Given the description of an element on the screen output the (x, y) to click on. 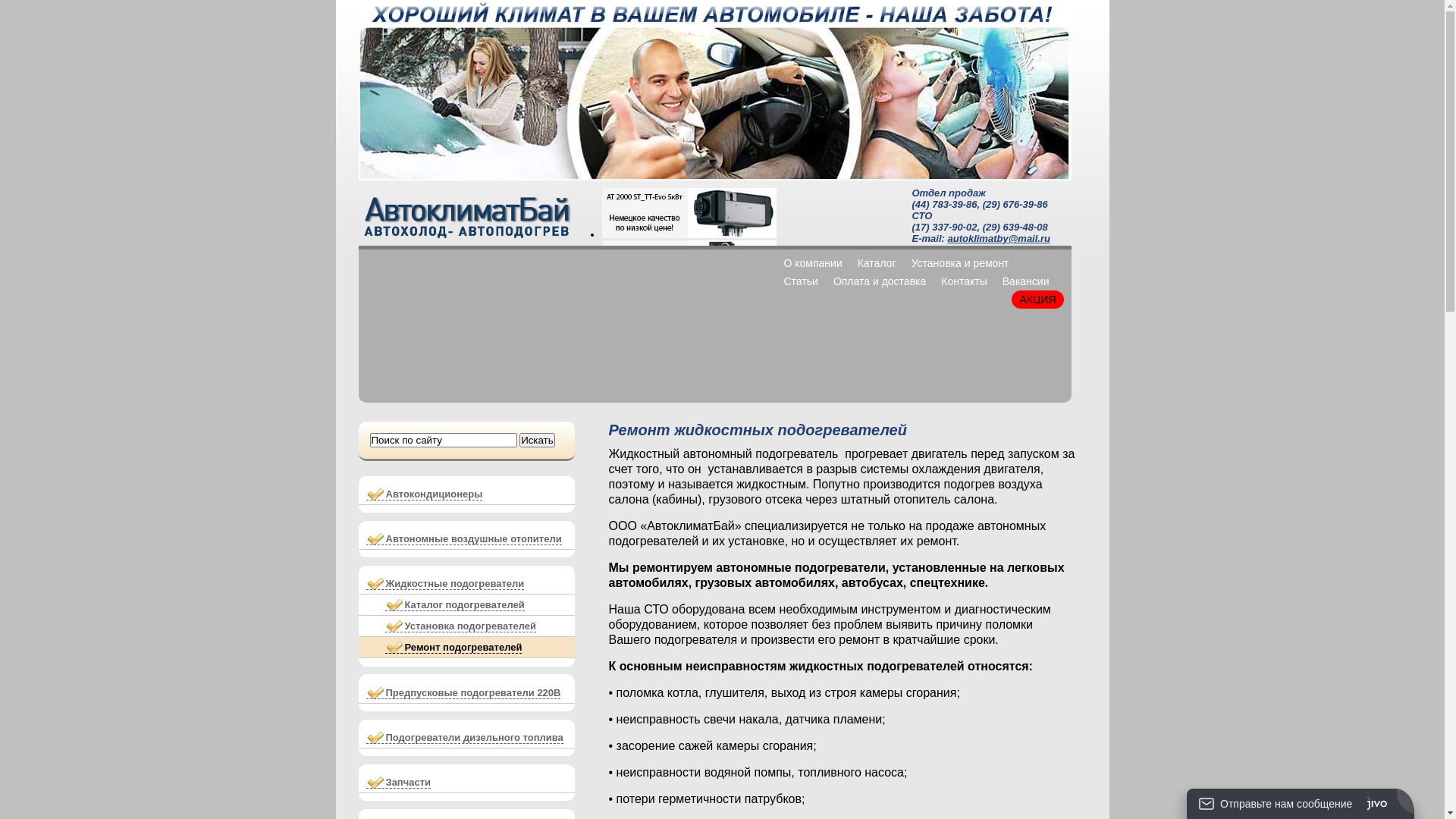
autoklimatby@mail.ru Element type: text (998, 238)
(44) 783-39-86 Element type: text (943, 204)
(17) 337-90-02 Element type: text (943, 226)
(29) 676-39-86 Element type: text (1015, 204)
(29) 639-48-08 Element type: text (1015, 226)
